Given the description of an element on the screen output the (x, y) to click on. 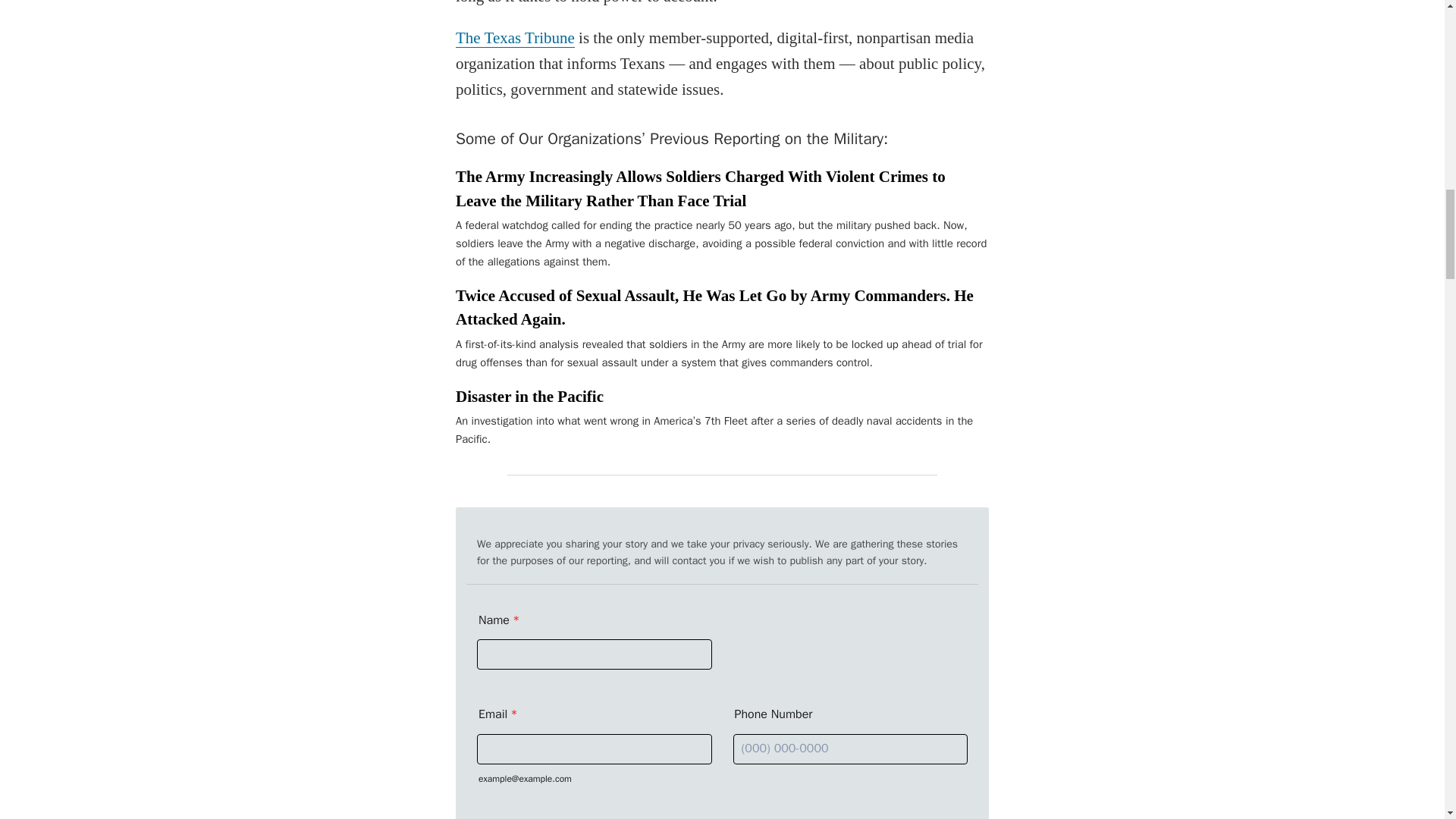
Disaster in the Pacific (529, 396)
The Texas Tribune (515, 37)
